Given the description of an element on the screen output the (x, y) to click on. 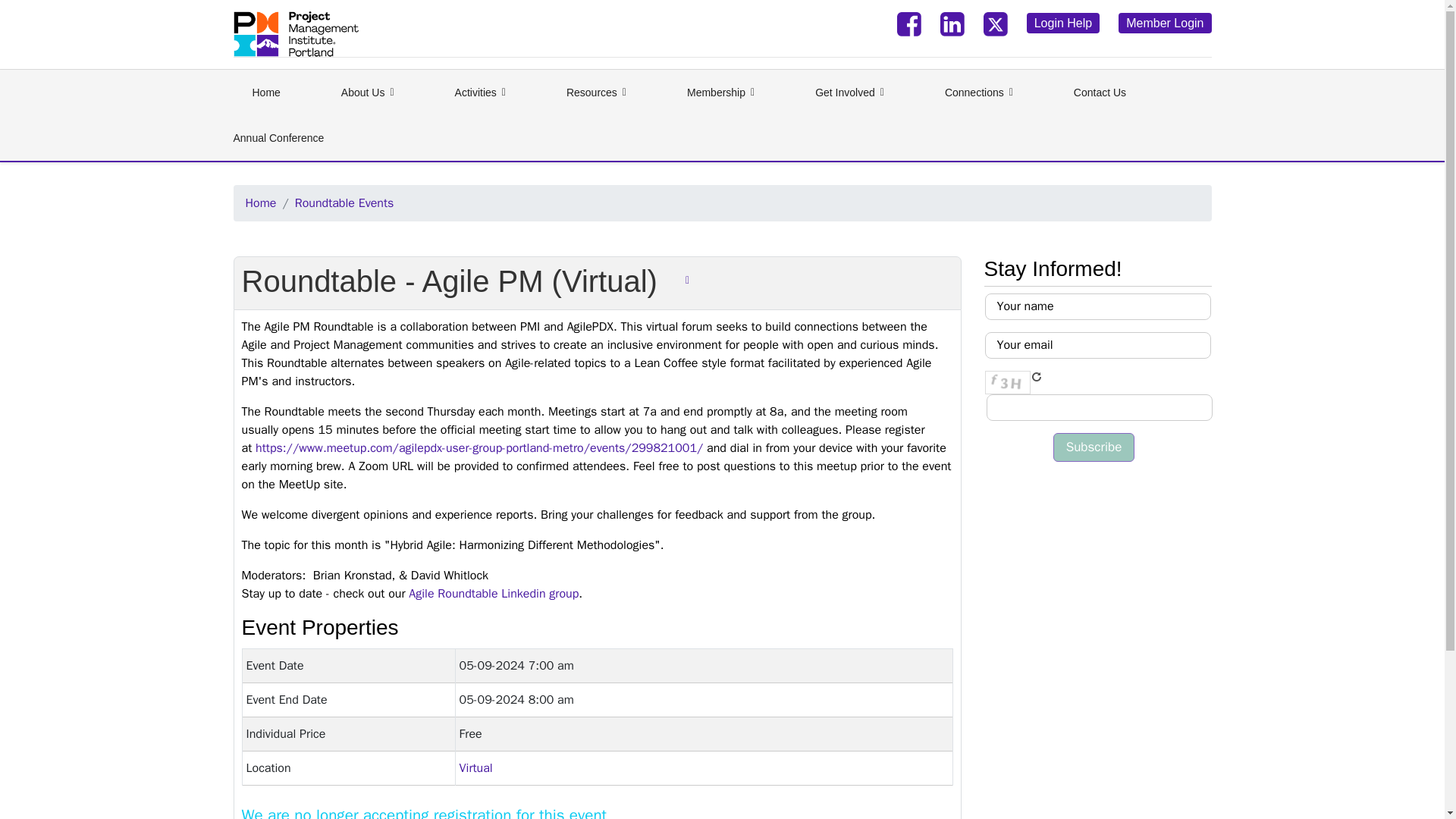
Membership (720, 92)
About Us (368, 92)
Resources (595, 92)
Your email (1096, 345)
Home (265, 92)
Your email (1096, 345)
The captcha is invalid, please try again (1098, 406)
Subscribe (1093, 447)
Your name (1096, 306)
The captcha is invalid, please try again (1006, 382)
